Given the description of an element on the screen output the (x, y) to click on. 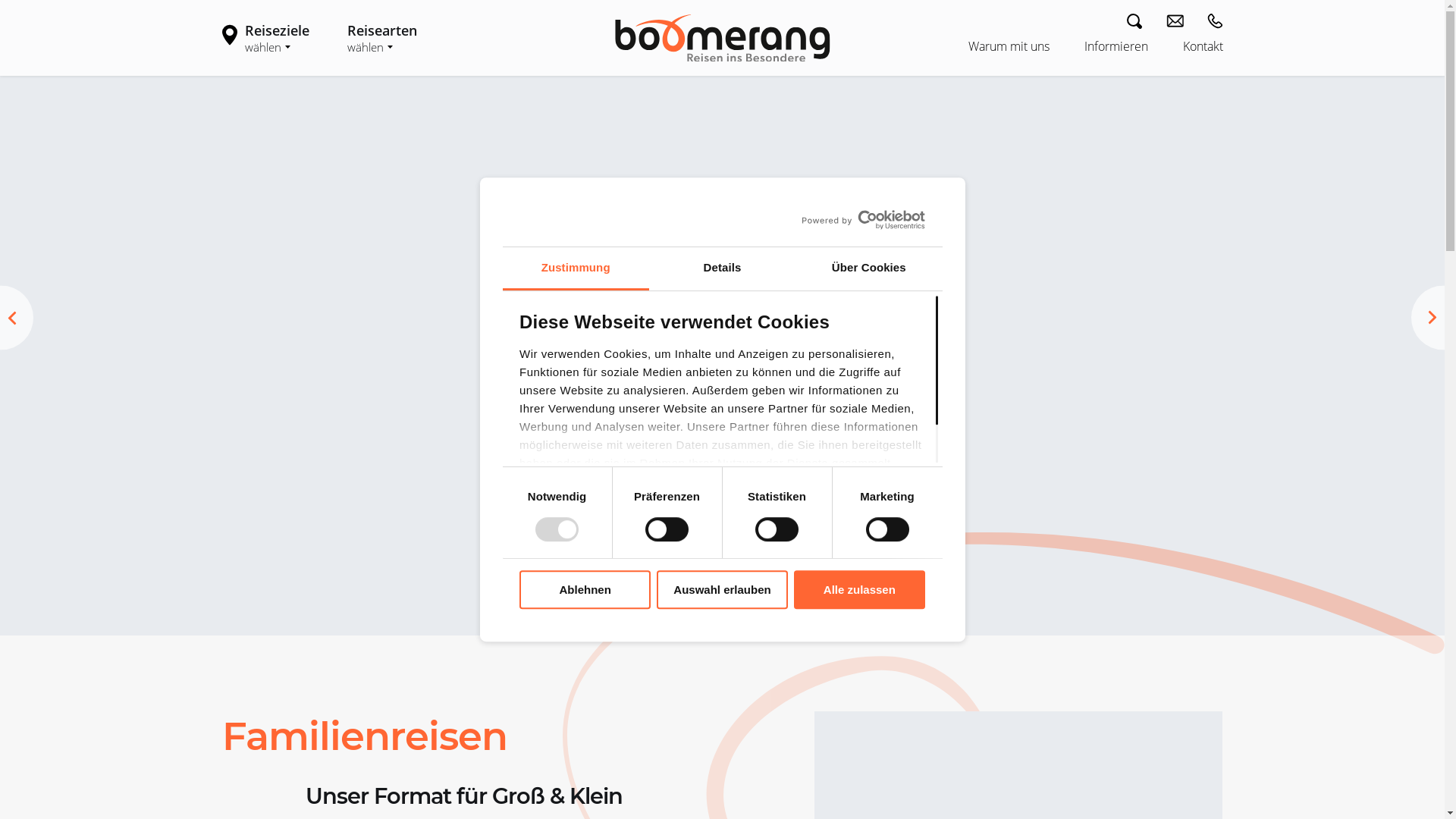
Details Element type: text (722, 268)
Informieren Element type: text (1133, 46)
Alle zulassen Element type: text (859, 589)
Kontakt Element type: text (1203, 46)
Auswahl erlauben Element type: text (721, 589)
Warum mit uns Element type: text (1025, 46)
Ablehnen Element type: text (584, 589)
Zustimmung Element type: text (575, 268)
boomerang-reisen.de Element type: hover (722, 36)
